Given the description of an element on the screen output the (x, y) to click on. 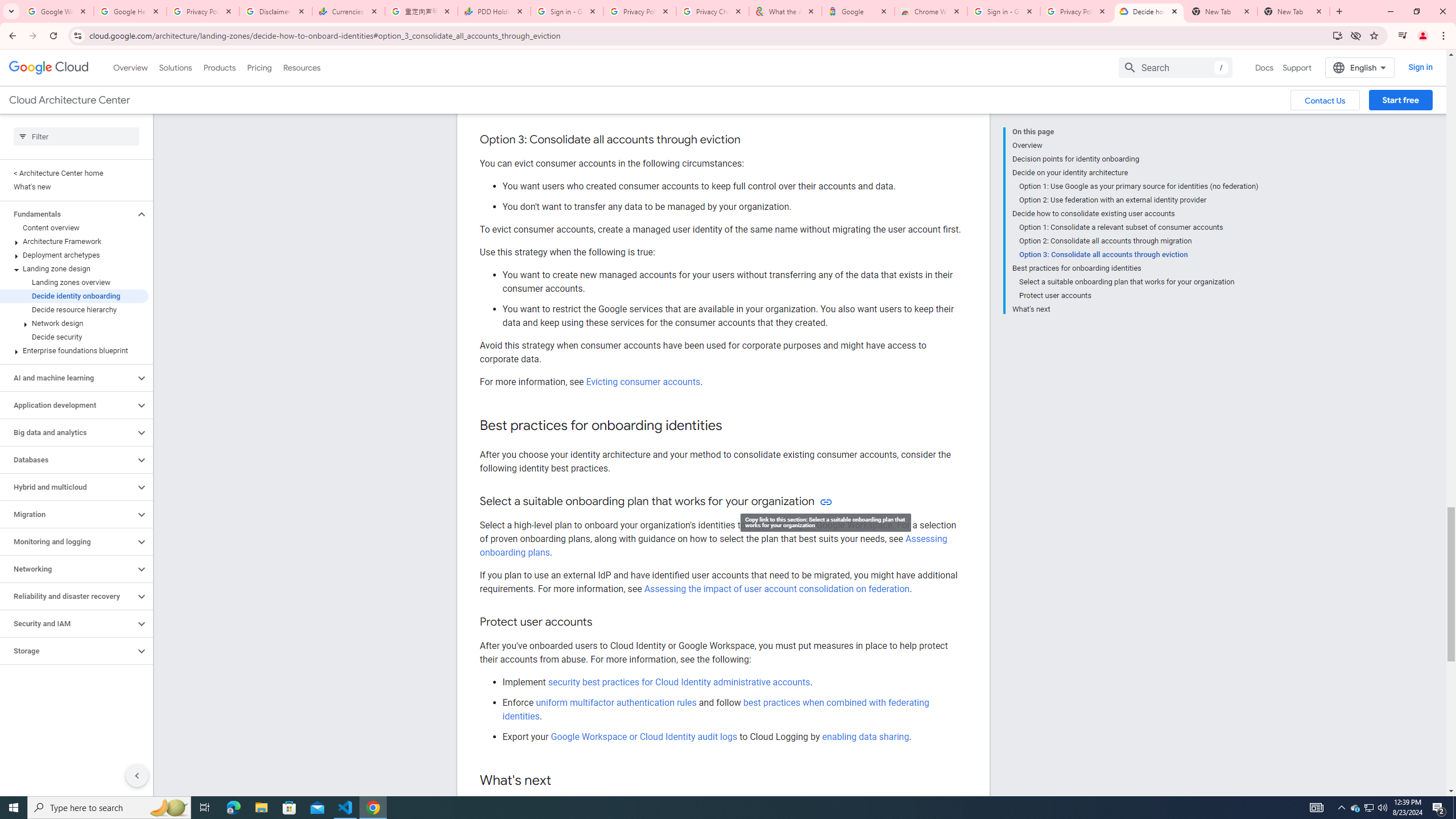
Best practices for onboarding identities (1134, 268)
Google Workspace or Cloud Identity audit logs (644, 736)
Assessing onboarding plans (713, 545)
Option 2: Consolidate all accounts through migration (1138, 241)
Architecture Framework (74, 241)
Hide side navigation (136, 775)
Currencies - Google Finance (348, 11)
Decide resource hierarchy (74, 309)
